Given the description of an element on the screen output the (x, y) to click on. 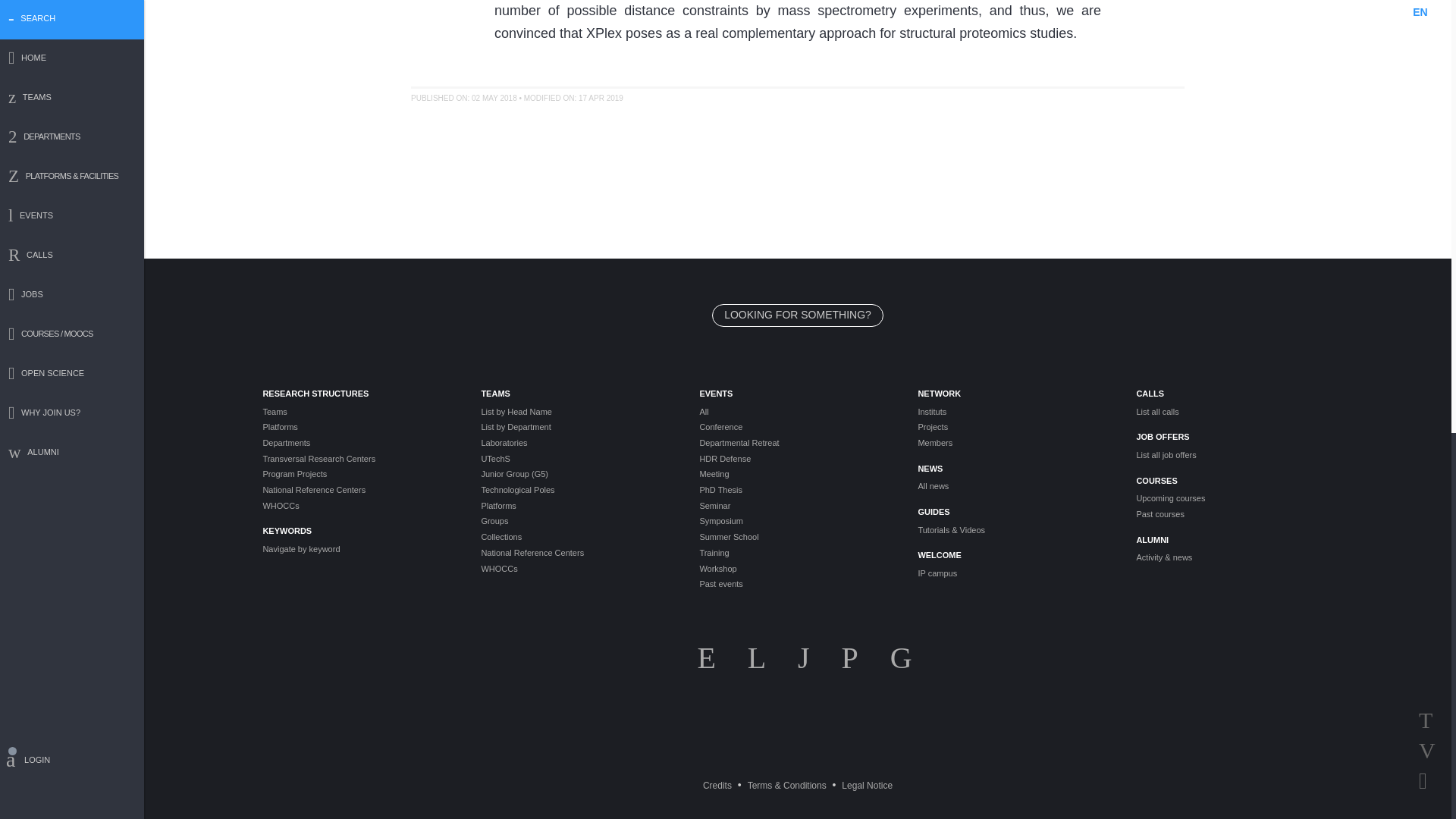
Departments (360, 442)
Platforms (360, 427)
Teams (360, 411)
Transversal Research Centers (360, 459)
